Given the description of an element on the screen output the (x, y) to click on. 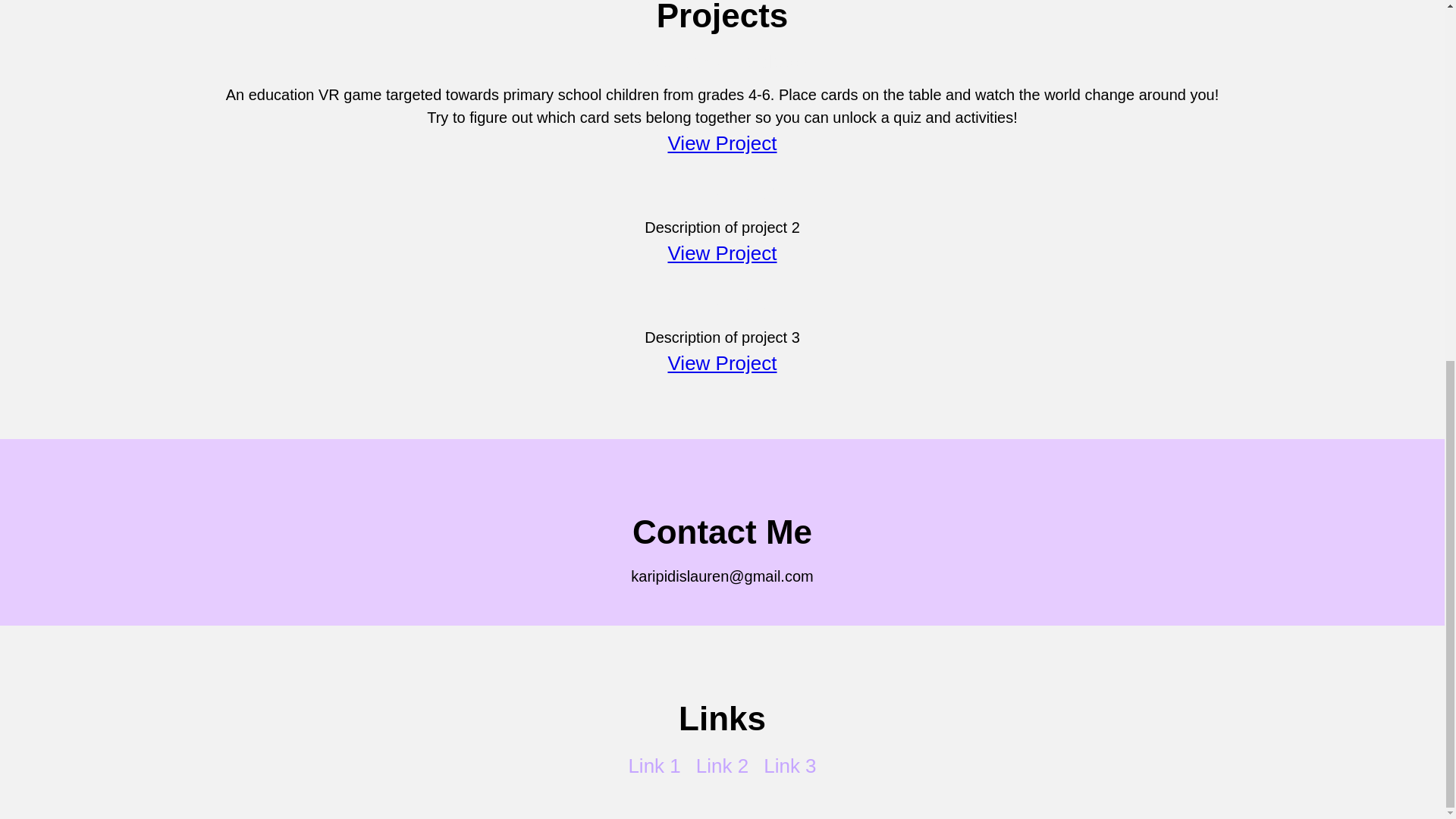
View Project (721, 142)
Link 2 (721, 765)
View Project (721, 252)
Link 1 (653, 765)
View Project (721, 363)
Link 3 (788, 765)
